Given the description of an element on the screen output the (x, y) to click on. 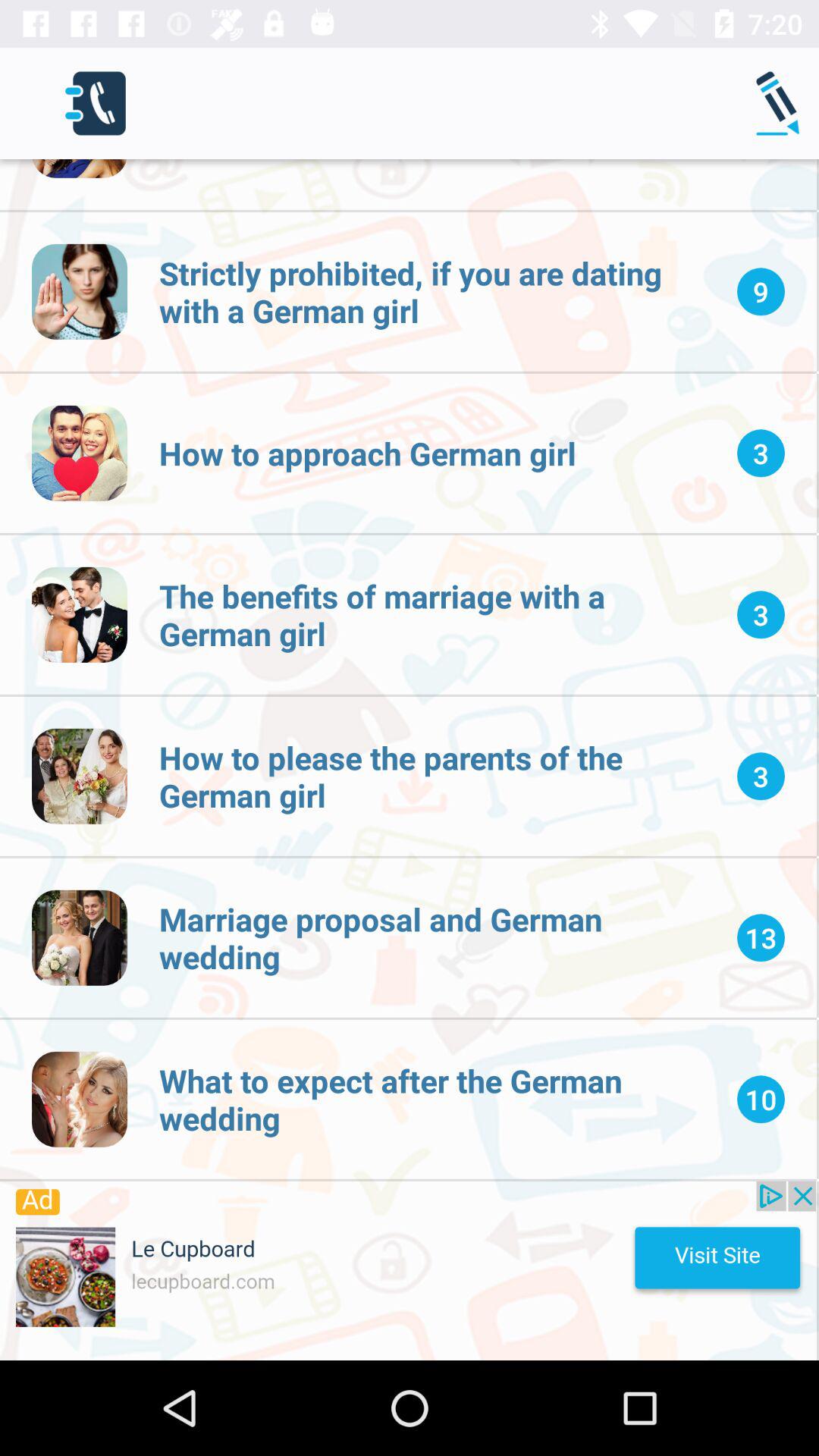
visit advertiser (408, 1270)
